Given the description of an element on the screen output the (x, y) to click on. 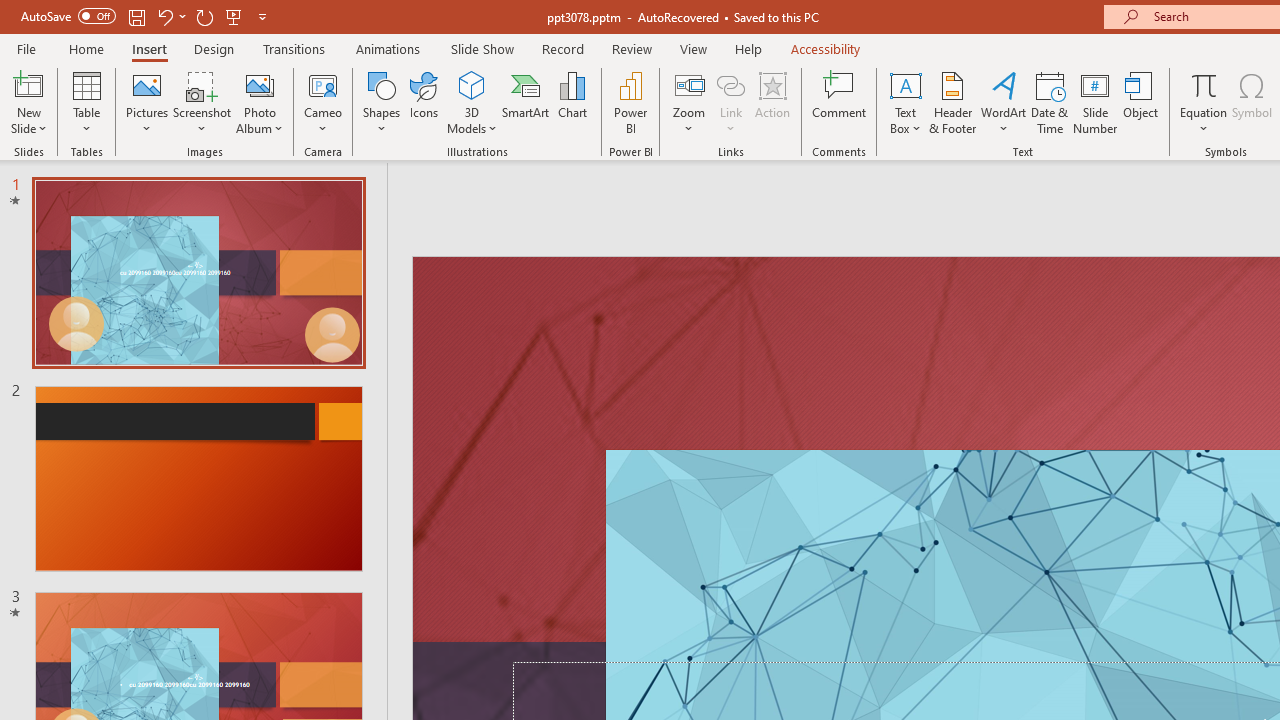
SmartArt... (525, 102)
Design (214, 48)
3D Models (472, 84)
Cameo (323, 102)
AutoSave (68, 16)
Animations (388, 48)
Customize Quick Access Toolbar (262, 15)
WordArt (1004, 102)
3D Models (472, 102)
Text Box (905, 102)
Table (86, 102)
Equation (1203, 84)
Chart... (572, 102)
